Given the description of an element on the screen output the (x, y) to click on. 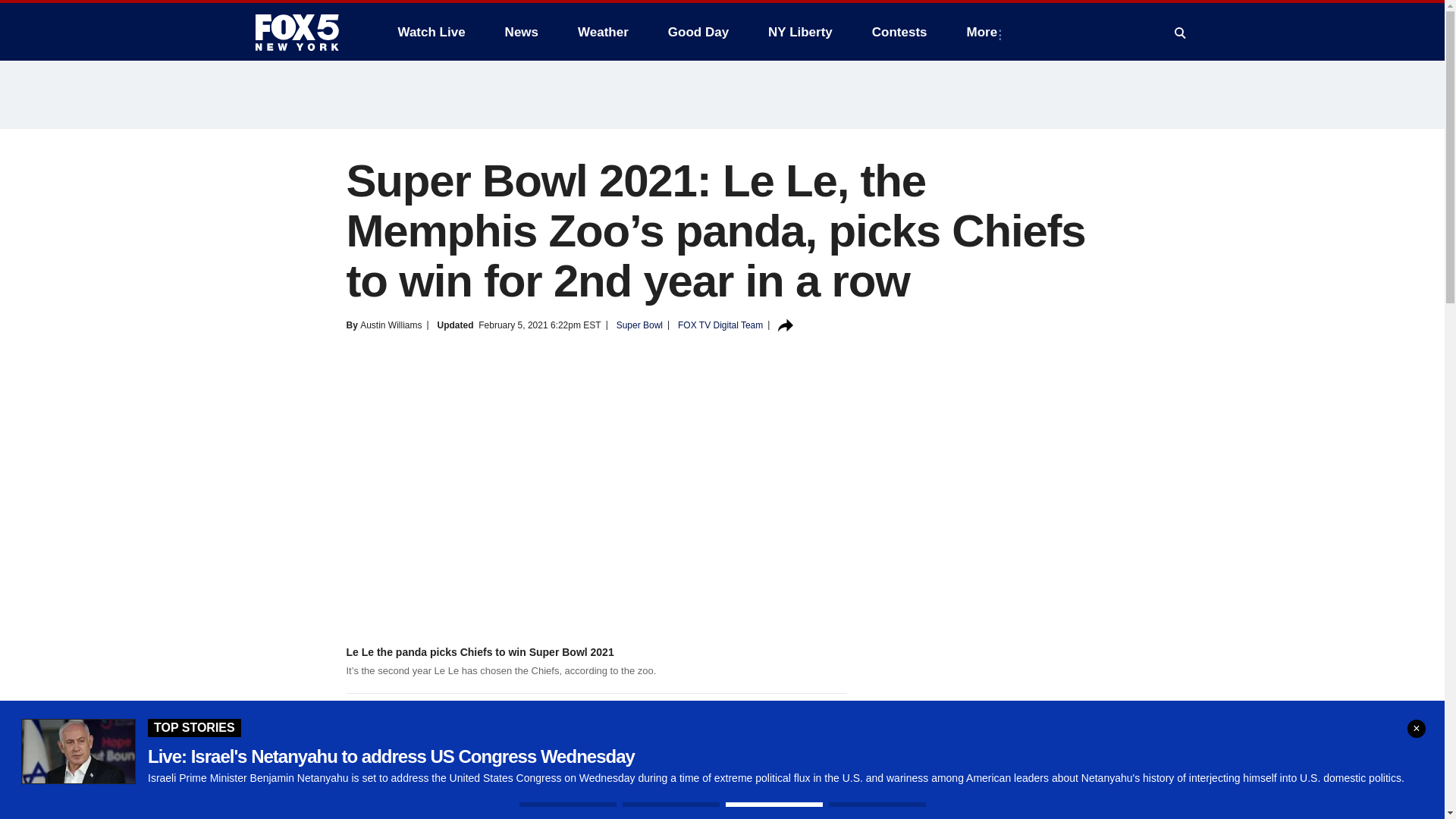
Watch Live (431, 32)
Weather (603, 32)
Contests (899, 32)
News (521, 32)
NY Liberty (799, 32)
Good Day (698, 32)
More (985, 32)
